Given the description of an element on the screen output the (x, y) to click on. 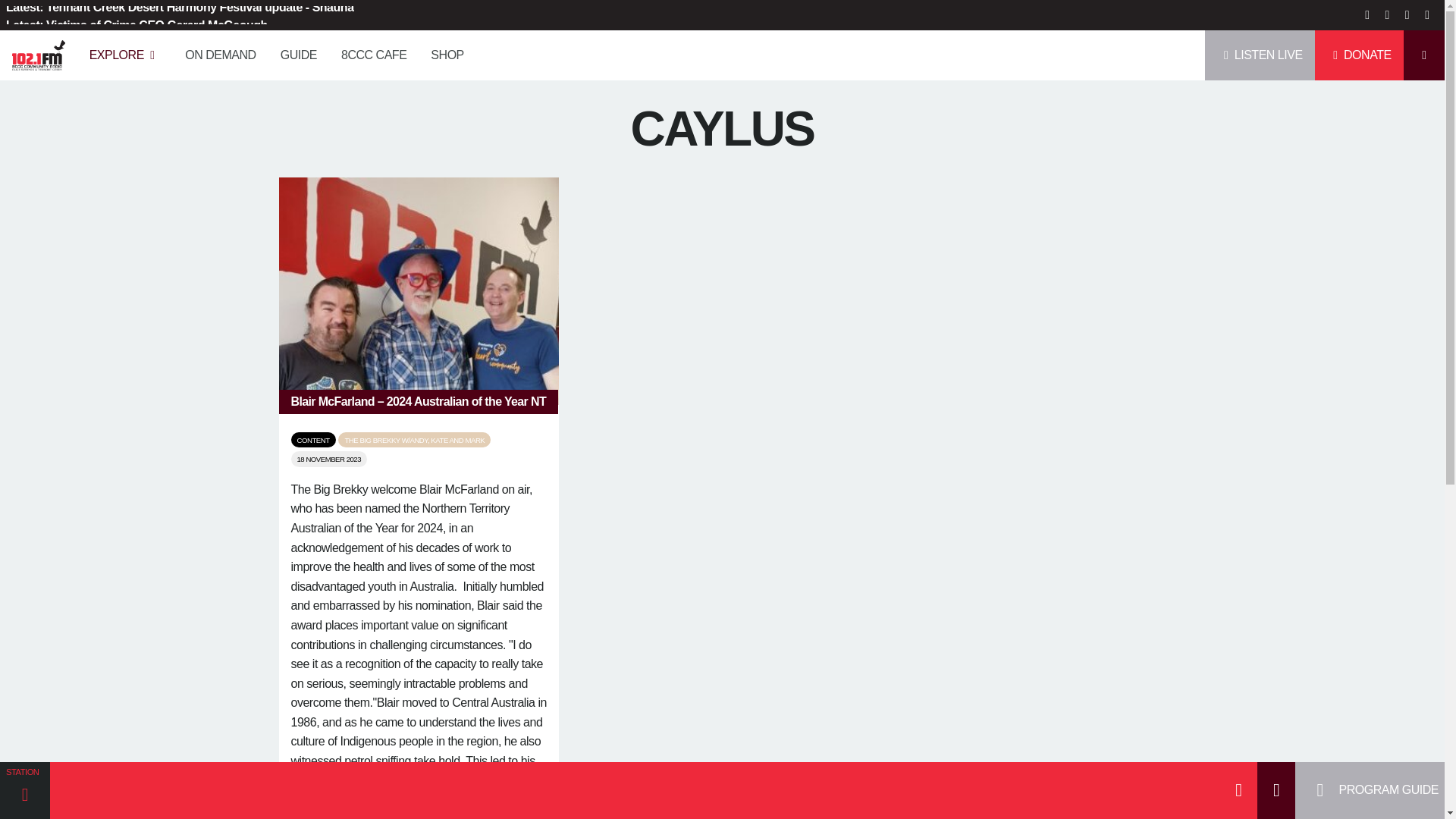
EXPLORE (125, 55)
ON DEMAND (220, 55)
DONATE (1358, 55)
8CCC CAFE (374, 55)
LISTEN LIVE (1259, 55)
SHOP (447, 55)
